Given the description of an element on the screen output the (x, y) to click on. 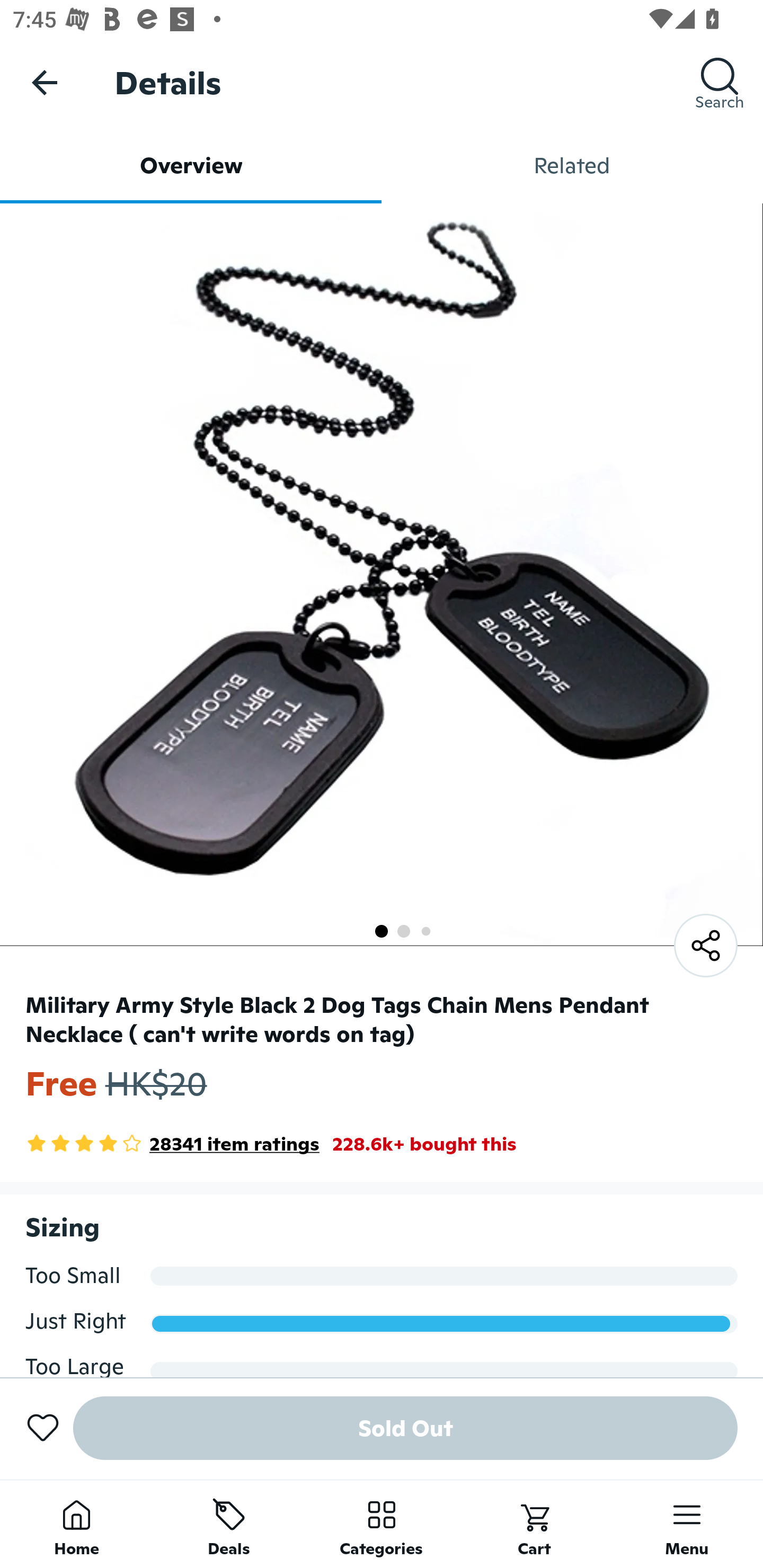
Navigate up (44, 82)
Search (719, 82)
Related (572, 165)
4.1 Star Rating 28341 item ratings (172, 1143)
Sold Out (405, 1428)
Home (76, 1523)
Deals (228, 1523)
Categories (381, 1523)
Cart (533, 1523)
Menu (686, 1523)
